Given the description of an element on the screen output the (x, y) to click on. 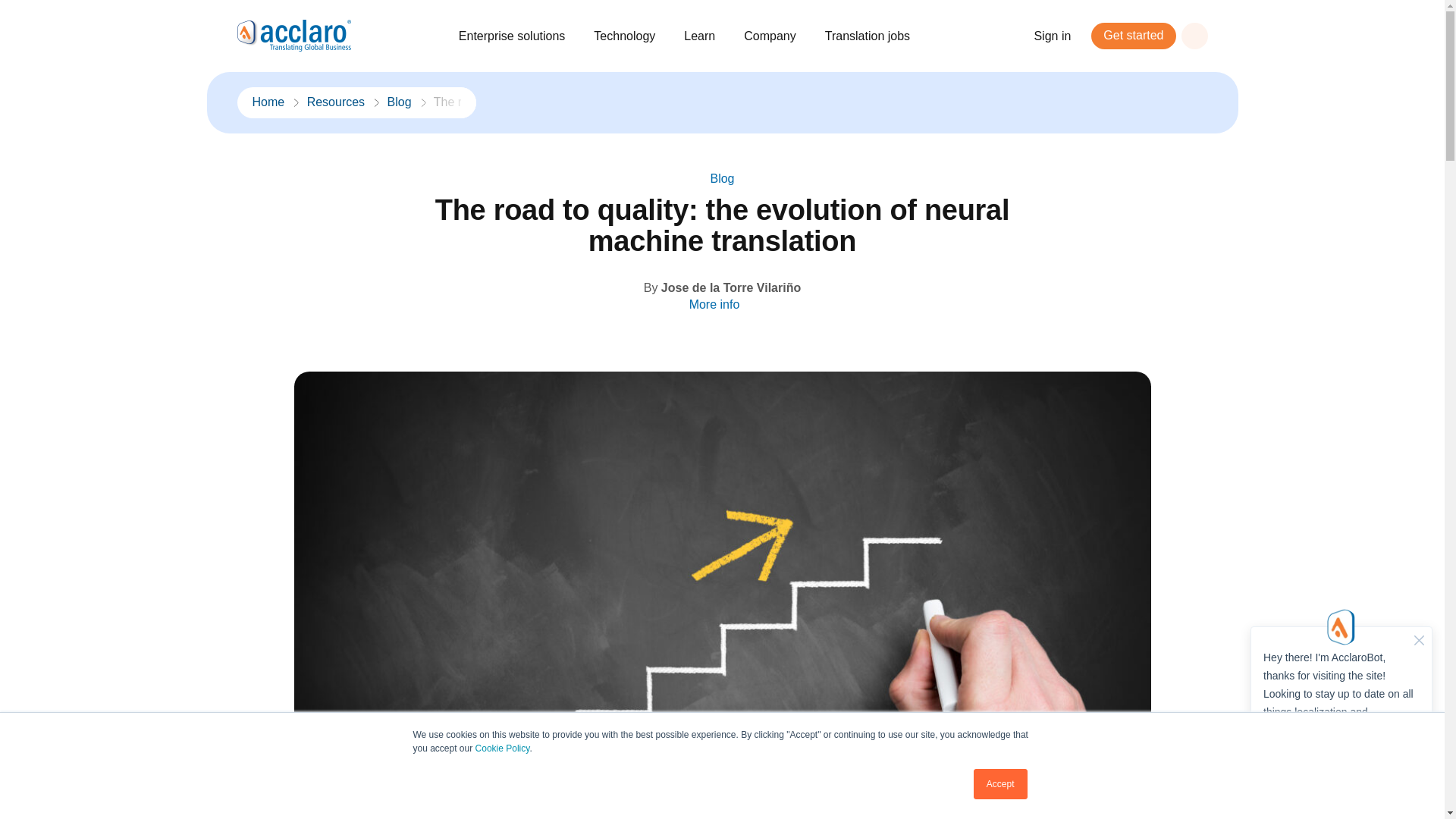
Technology (632, 35)
Enterprise solutions (519, 35)
Cookie Policy (502, 747)
Company (777, 35)
Learn (707, 35)
Sign in (1059, 35)
Get started (1132, 35)
Accept (1000, 784)
Translation jobs (875, 35)
